Given the description of an element on the screen output the (x, y) to click on. 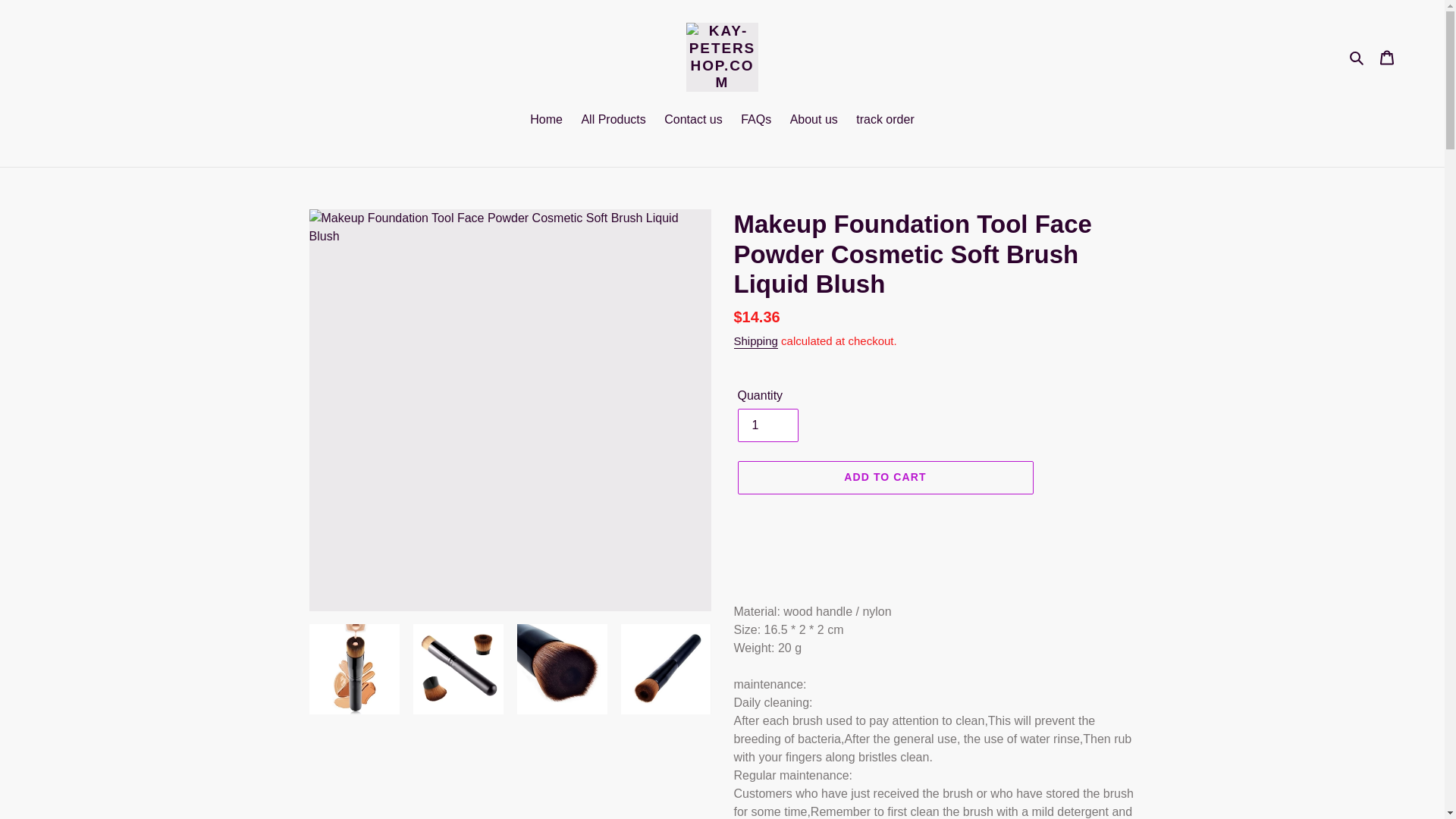
FAQs (755, 120)
Shipping (755, 341)
Home (546, 120)
Search (1357, 57)
ADD TO CART (884, 477)
1 (766, 425)
All Products (612, 120)
Contact us (692, 120)
About us (814, 120)
track order (884, 120)
